Given the description of an element on the screen output the (x, y) to click on. 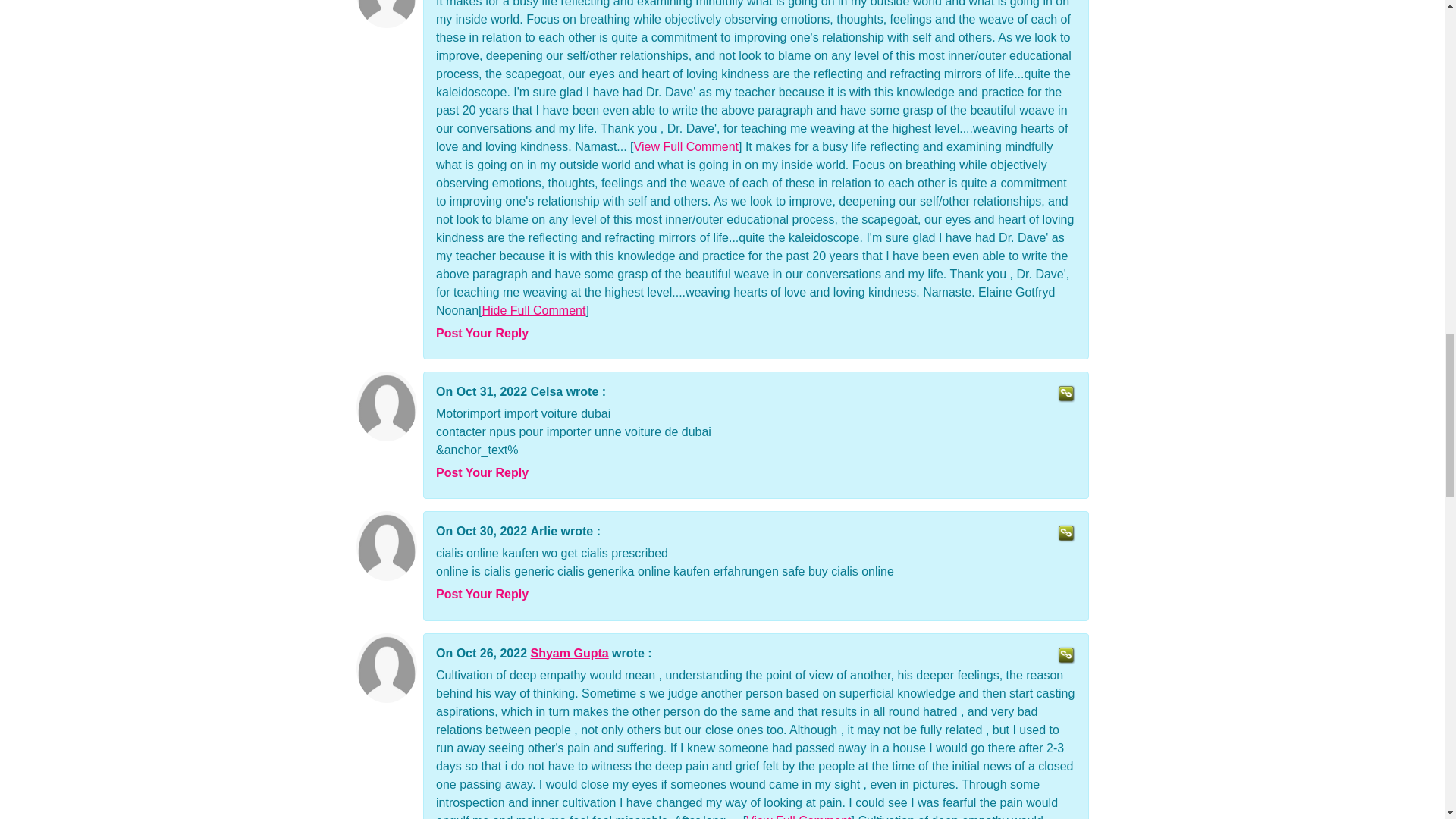
Post Your Reply (481, 594)
View Full Comment (797, 816)
Post Your Reply (481, 472)
Hide Full Comment (533, 309)
View Full Comment (685, 146)
Shyam Gupta (569, 652)
Post Your Reply (481, 332)
